Given the description of an element on the screen output the (x, y) to click on. 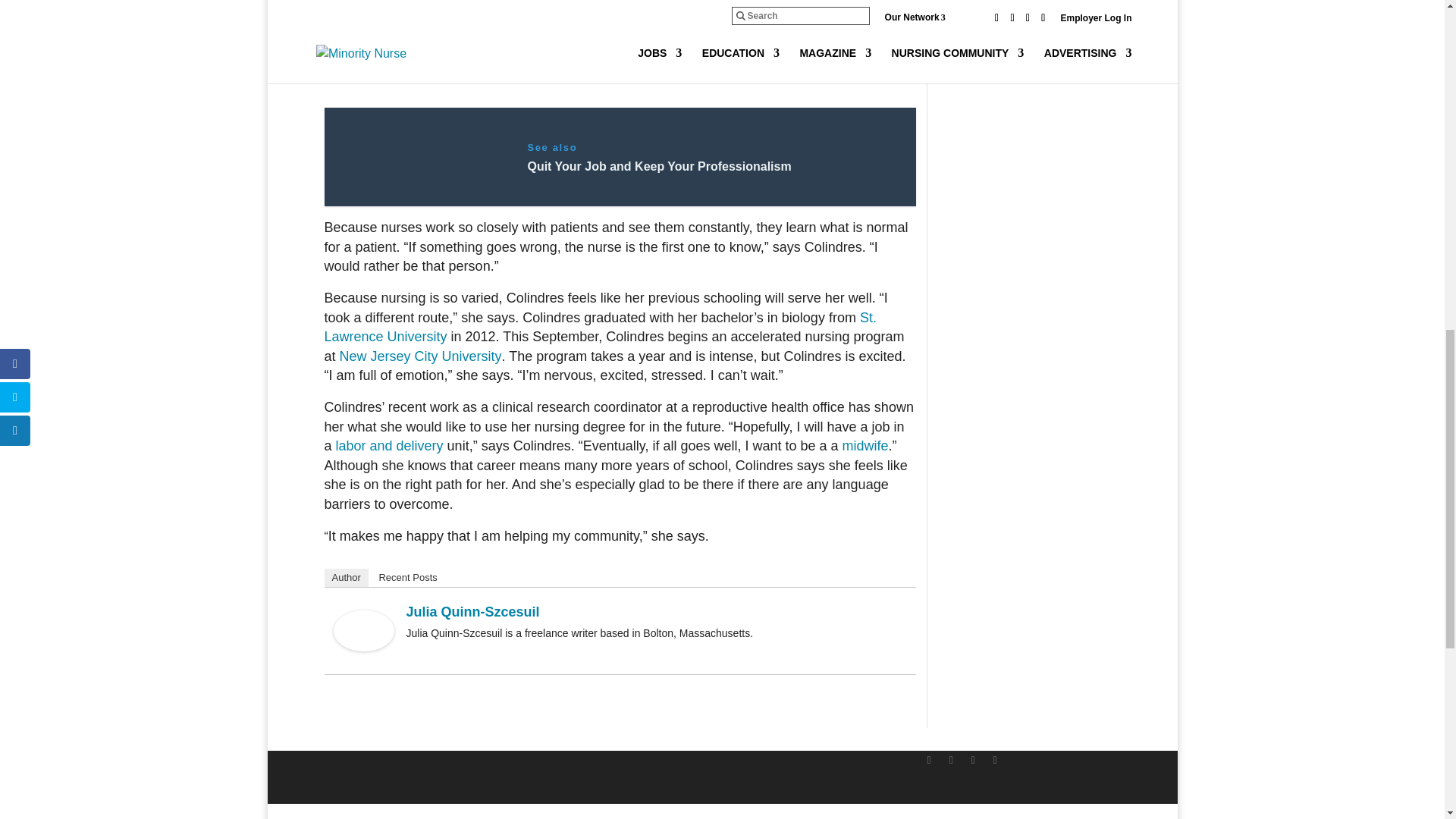
labor and delivery (390, 445)
midwife (865, 445)
